Given the description of an element on the screen output the (x, y) to click on. 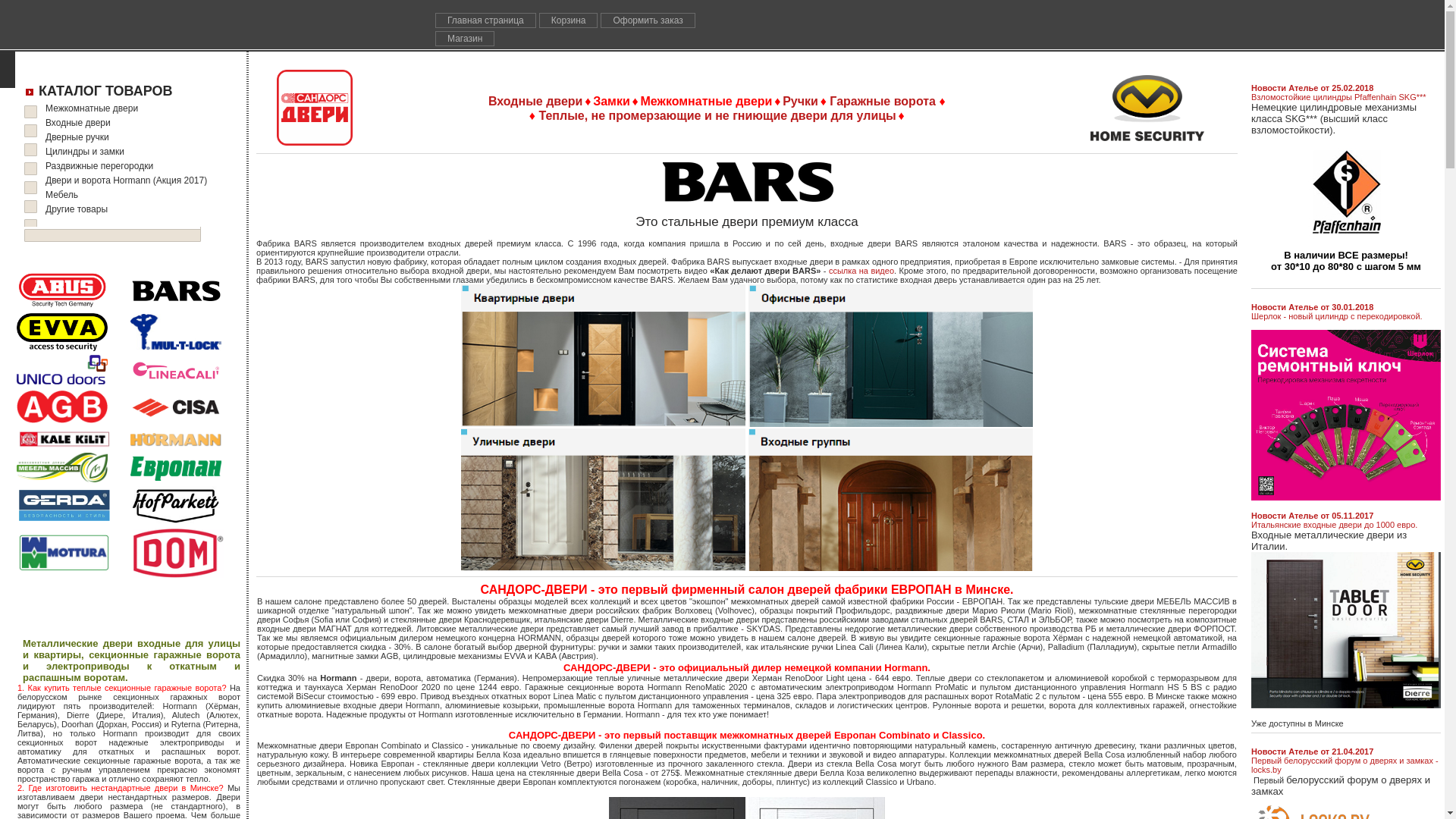
  Element type: text (781, 102)
Unico Doors Element type: hover (61, 369)
